Given the description of an element on the screen output the (x, y) to click on. 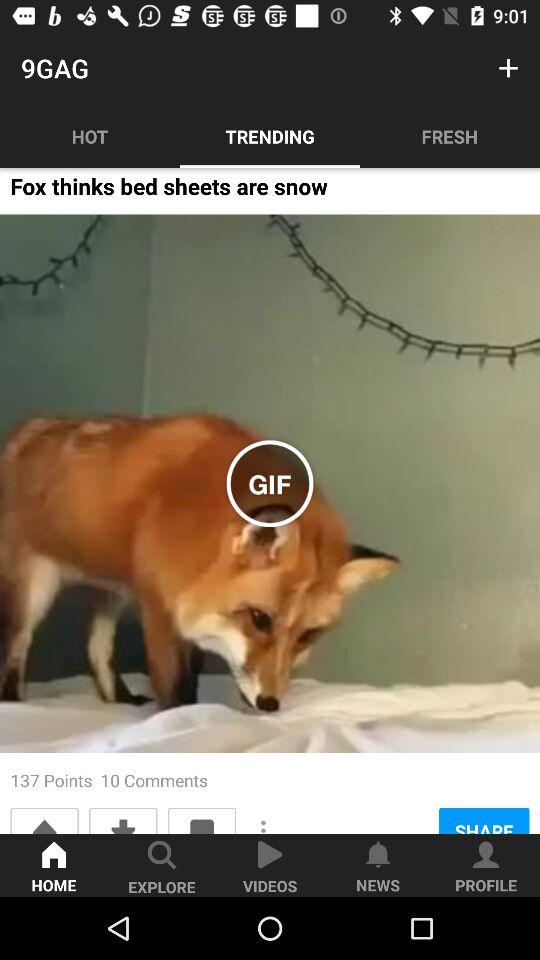
open the icon above the 137 points 	10 (270, 483)
